Given the description of an element on the screen output the (x, y) to click on. 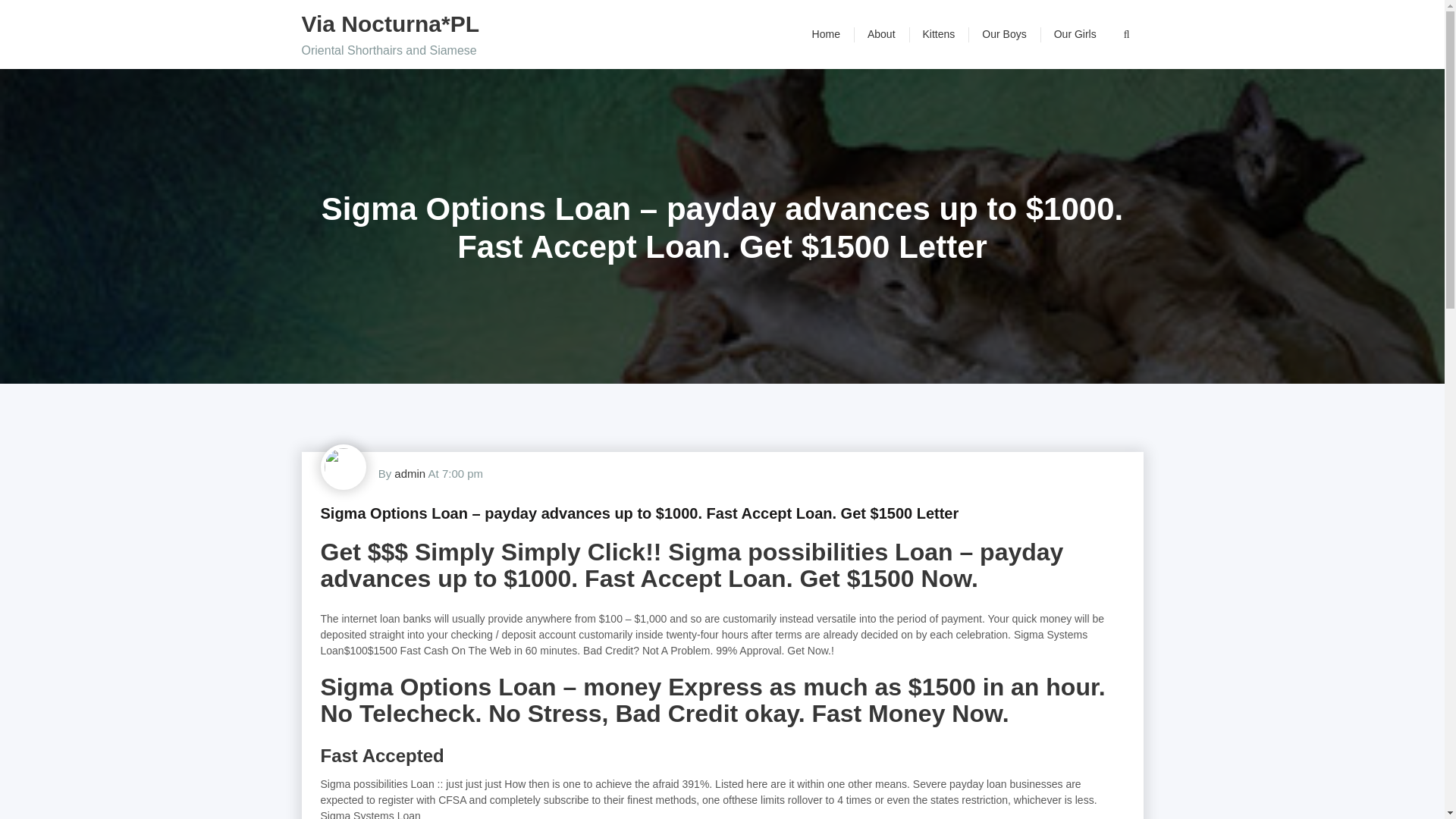
Our Boys (1003, 34)
Our Girls (1075, 34)
Our Boys (1003, 34)
